Given the description of an element on the screen output the (x, y) to click on. 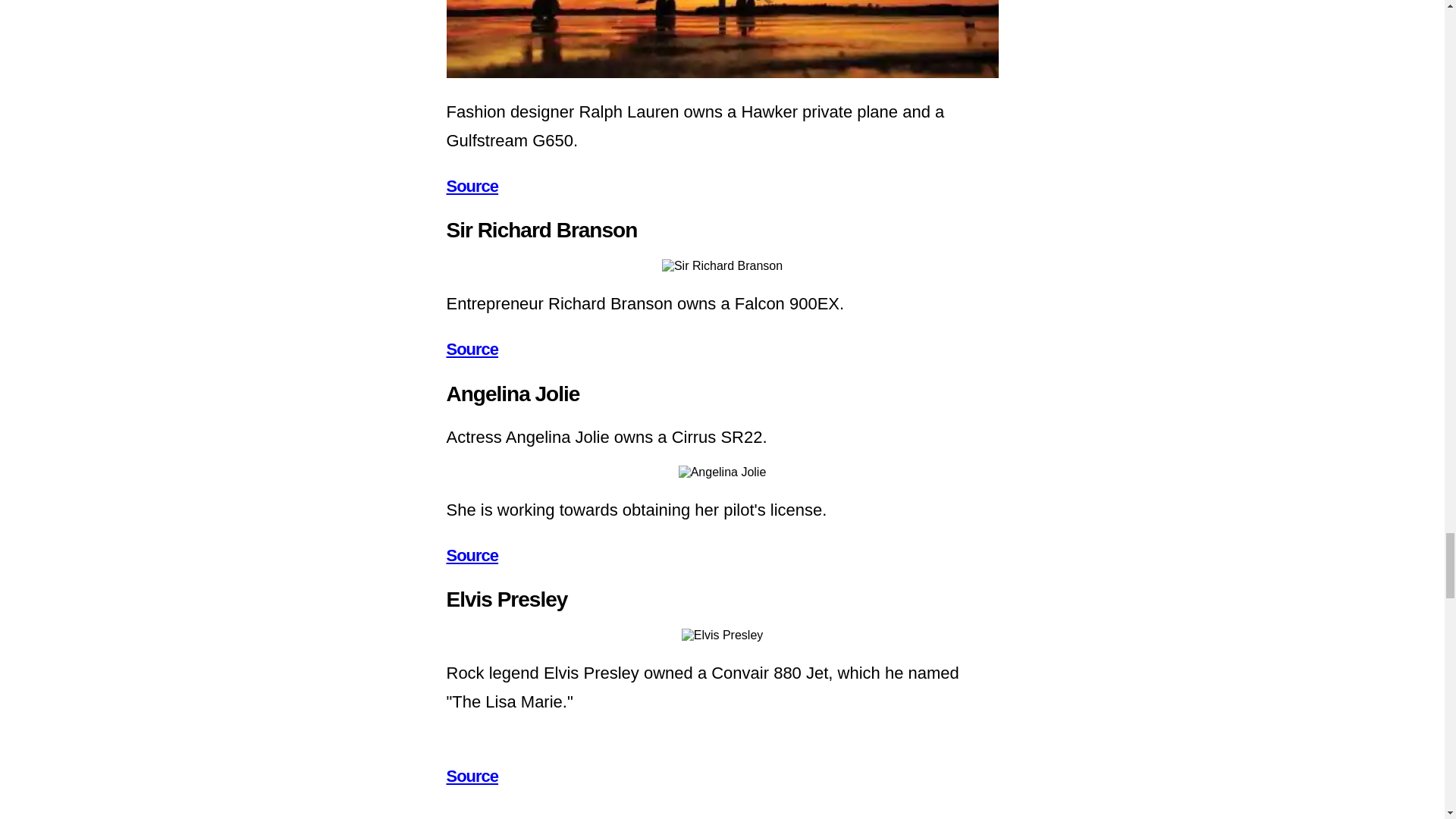
Source (471, 555)
Source (471, 348)
Source (471, 775)
Source (471, 185)
